Given the description of an element on the screen output the (x, y) to click on. 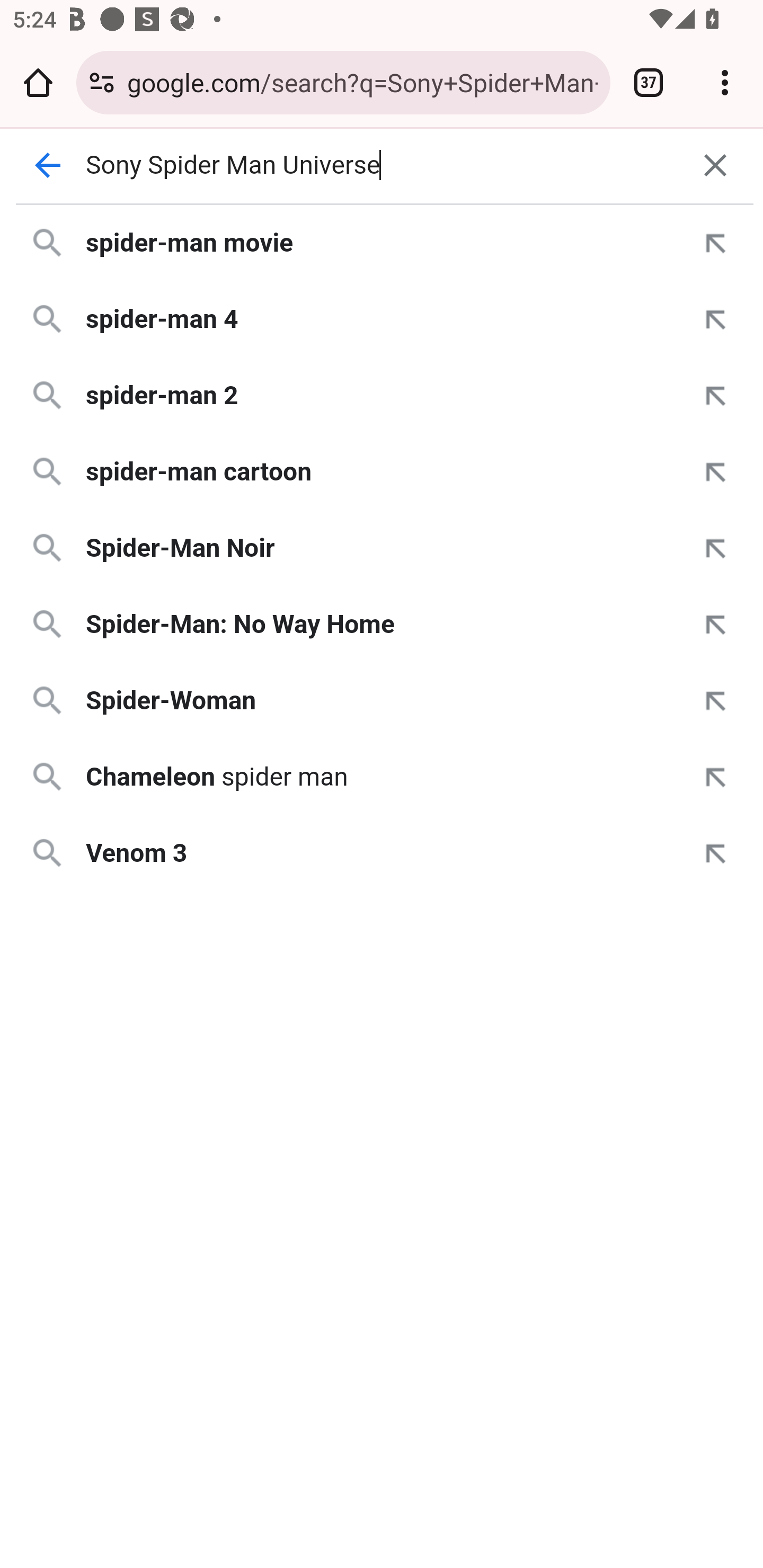
Open the home page (38, 82)
Connection is secure (101, 82)
Switch or close tabs (648, 82)
Customize and control Google Chrome (724, 82)
返回 (47, 165)
清除搜索 (715, 165)
Sony Spider Man Universe (381, 165)
